Given the description of an element on the screen output the (x, y) to click on. 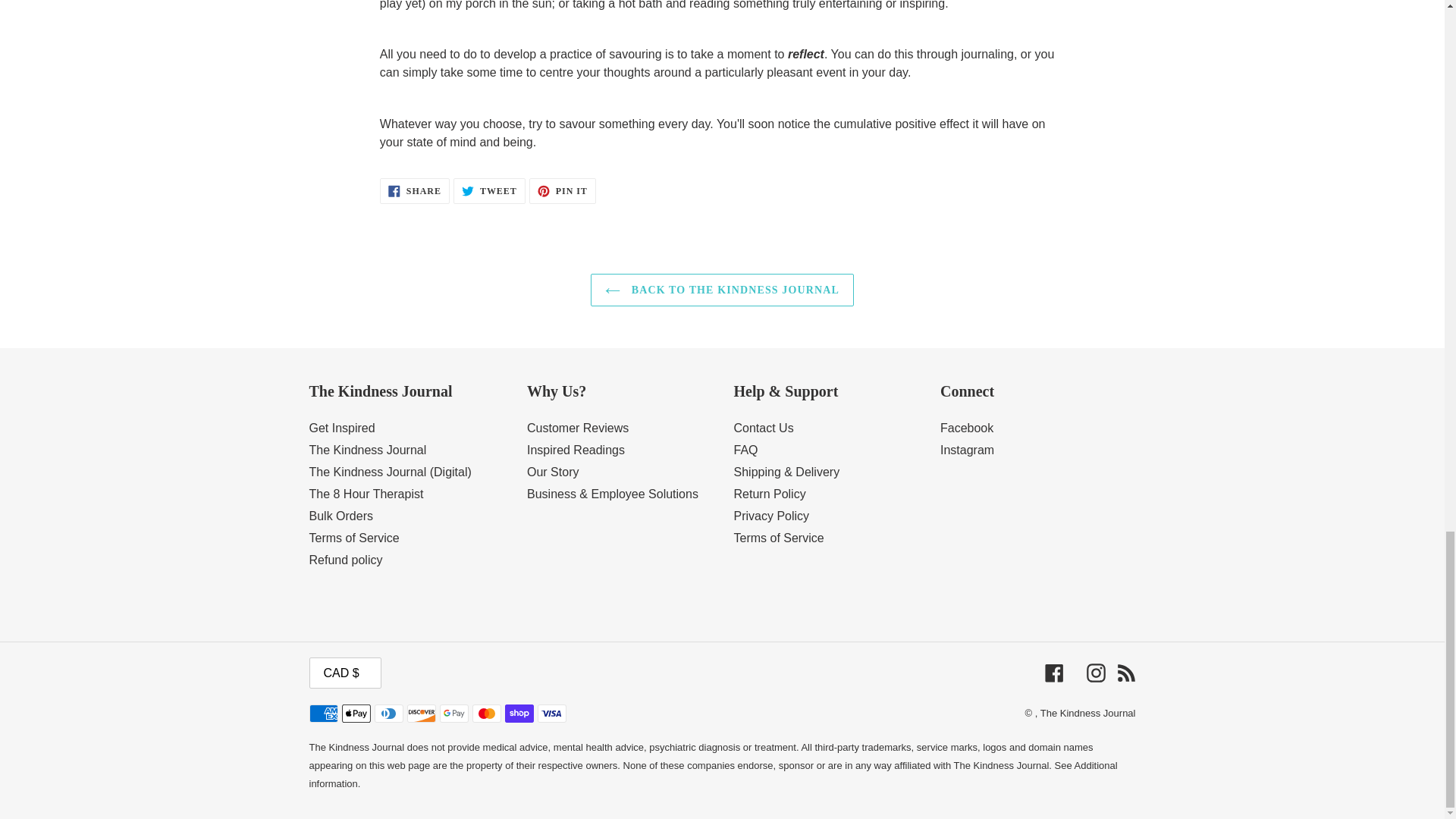
BACK TO THE KINDNESS JOURNAL (722, 289)
The Kindness Journal (562, 190)
Get Inspired (414, 190)
